Given the description of an element on the screen output the (x, y) to click on. 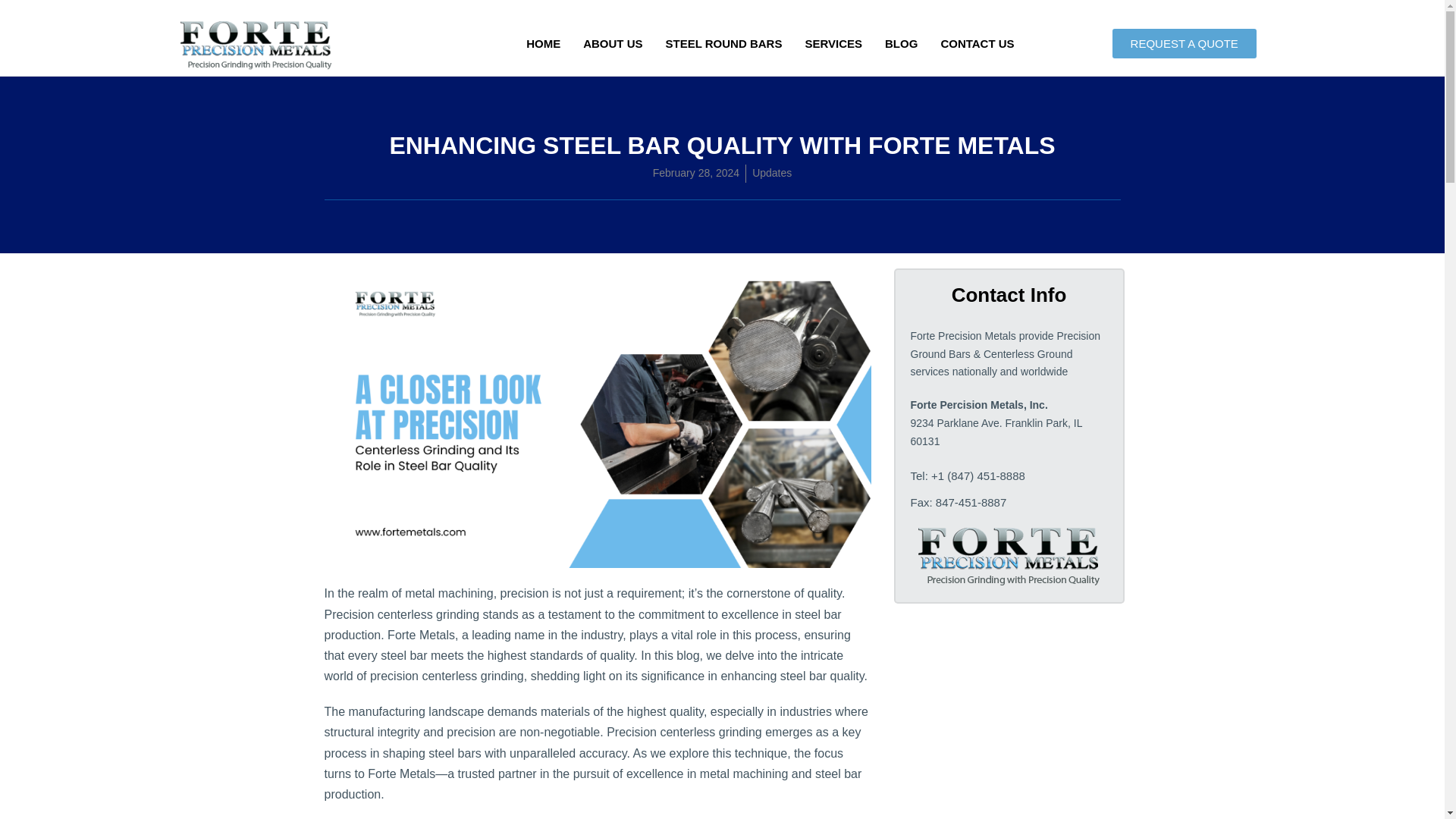
STEEL ROUND BARS (723, 44)
ABOUT US (612, 44)
HOME (543, 44)
